Given the description of an element on the screen output the (x, y) to click on. 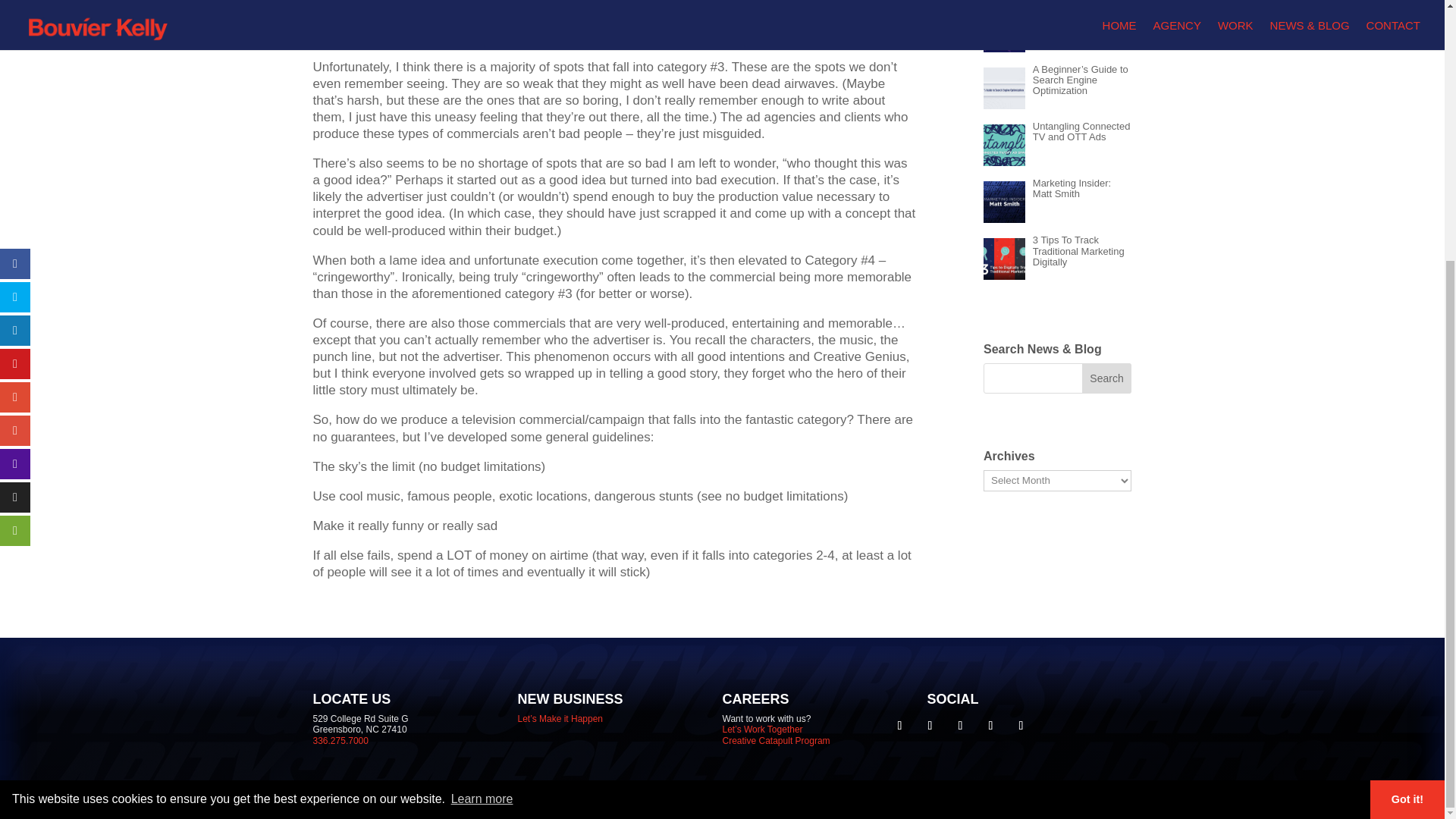
Marketing Insider: Matt Smith (1071, 188)
336.275.7000 (340, 740)
Creative Catapult Program (775, 740)
4 PR Trends To Monitor Heading into 2022 (1078, 23)
Follow on Facebook (898, 725)
Untangling Connected TV and OTT Ads (1081, 131)
Search (1106, 378)
Follow on LinkedIn (959, 725)
3 Tips To Track Traditional Marketing Digitally (1078, 250)
Follow on Youtube (1020, 725)
Follow on Instagram (990, 725)
Search (1106, 378)
Learn more (481, 425)
Follow on X (929, 725)
